Given the description of an element on the screen output the (x, y) to click on. 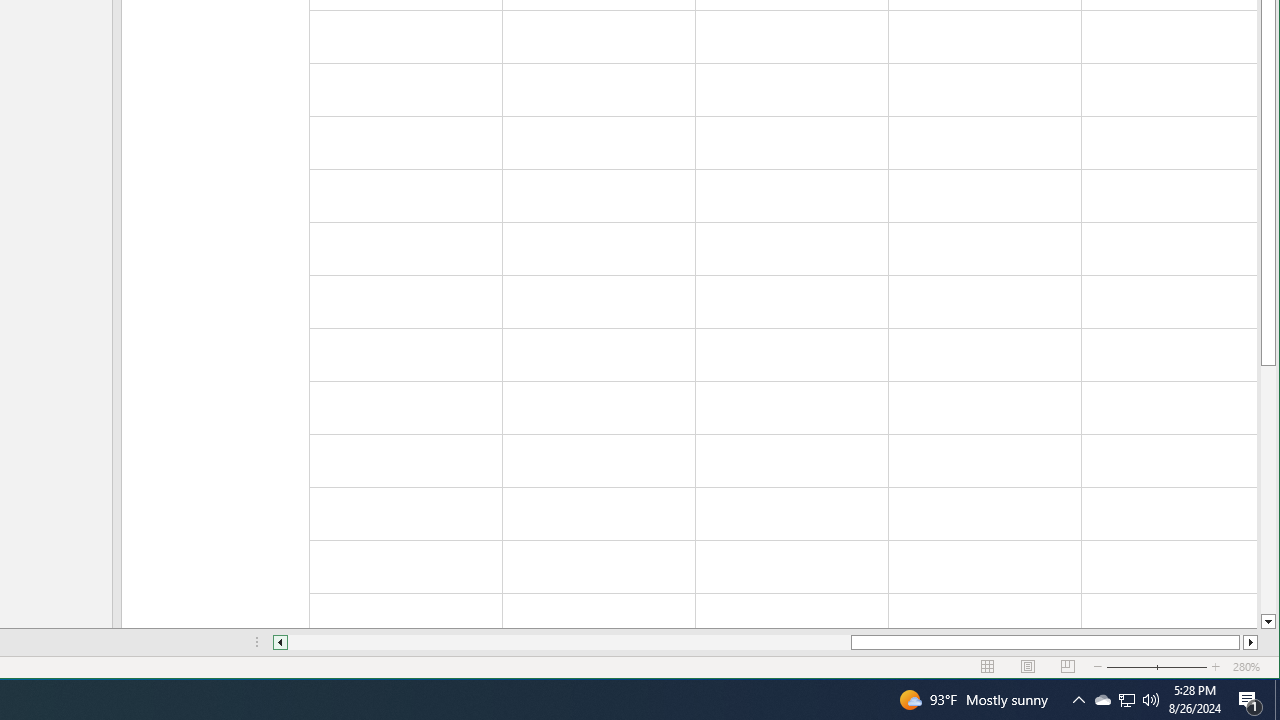
Q2790: 100% (1102, 699)
Action Center, 1 new notification (1151, 699)
Show desktop (1126, 699)
